Given the description of an element on the screen output the (x, y) to click on. 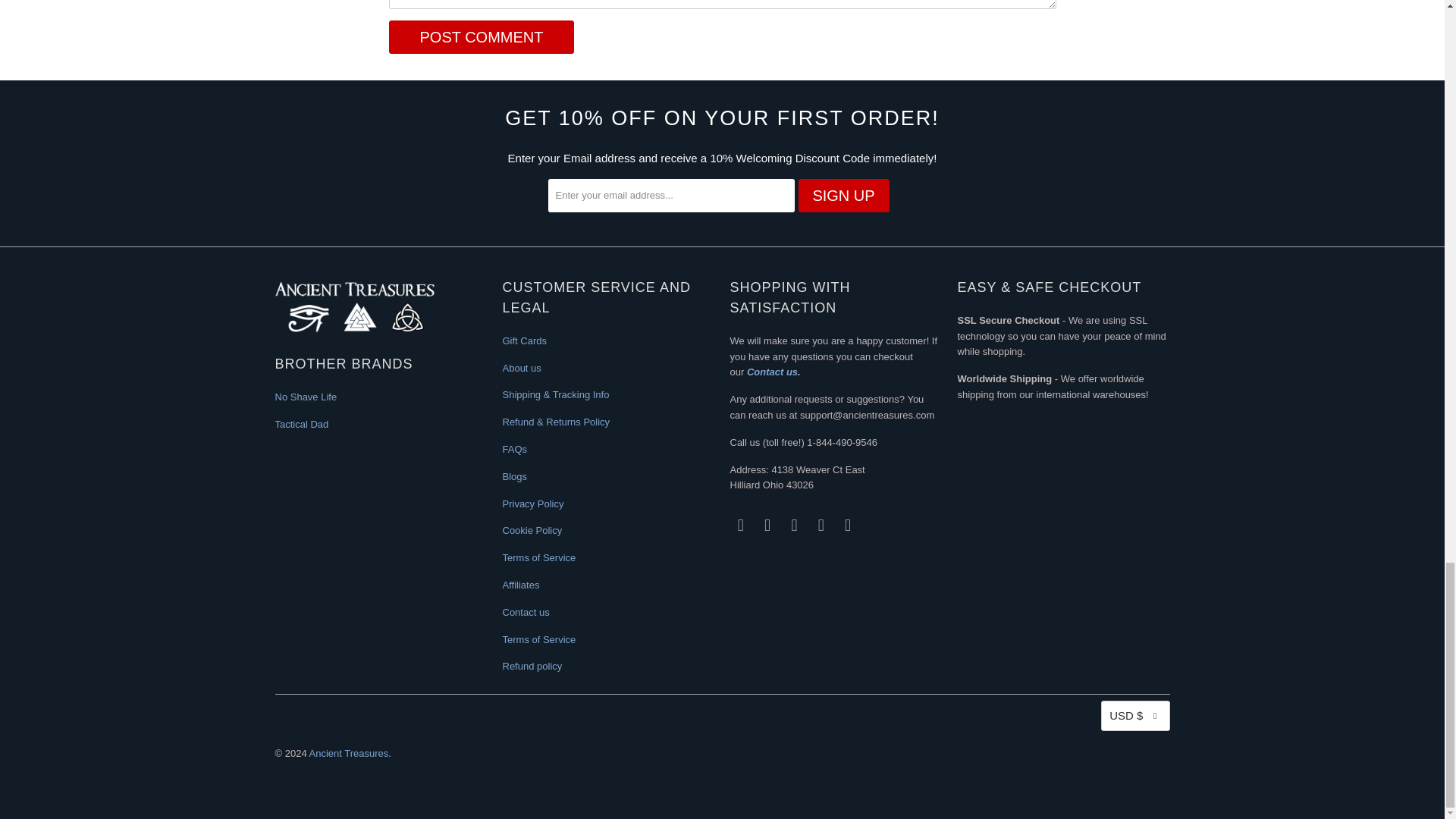
Sign Up (842, 195)
Post comment (480, 37)
